Given the description of an element on the screen output the (x, y) to click on. 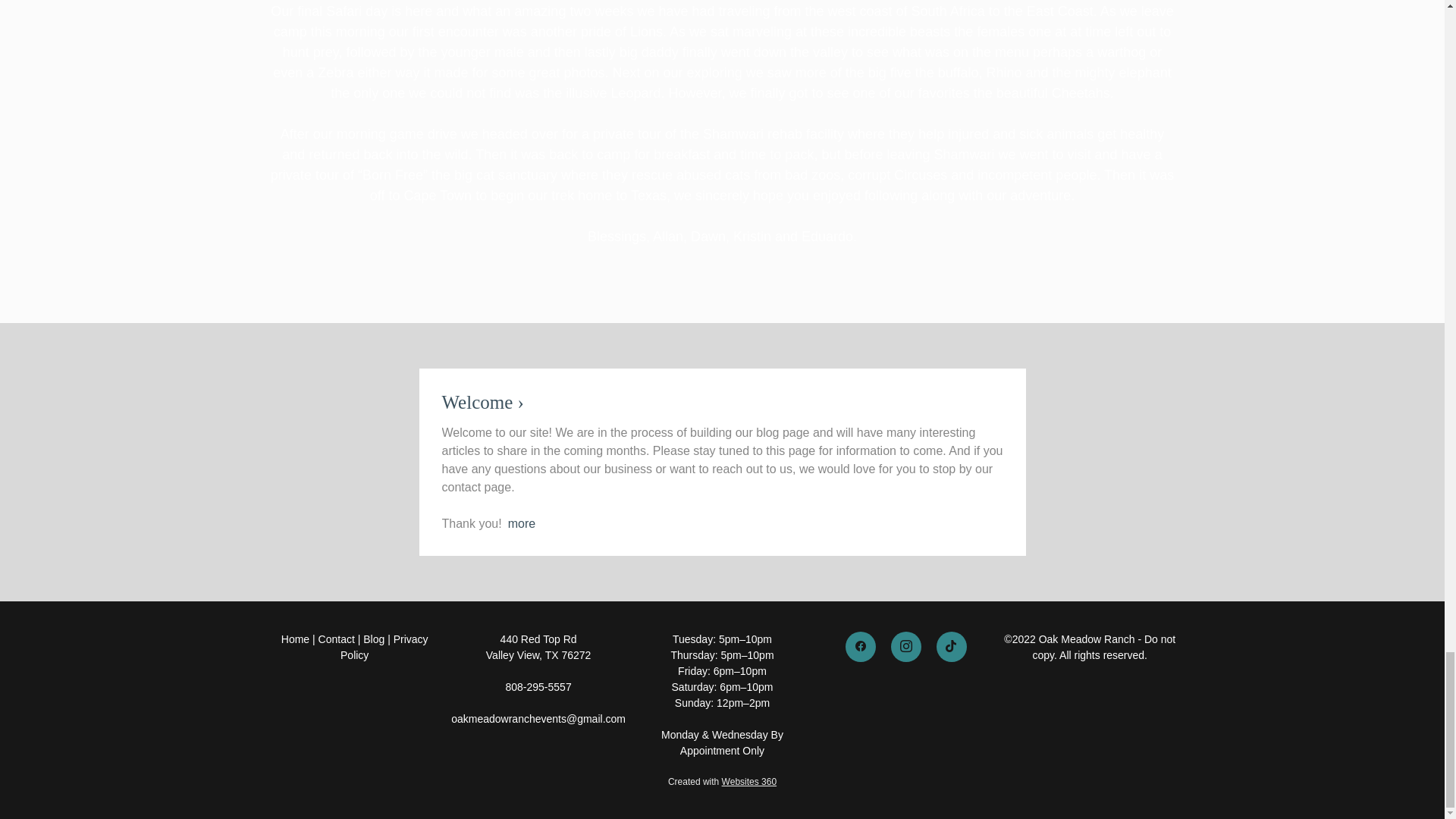
Created with Websites 360 (722, 780)
more (521, 522)
Privacy Policy (384, 646)
Home (294, 639)
808-295-5557 (537, 686)
Contact (336, 639)
Blog (373, 639)
Welcome (481, 402)
